Given the description of an element on the screen output the (x, y) to click on. 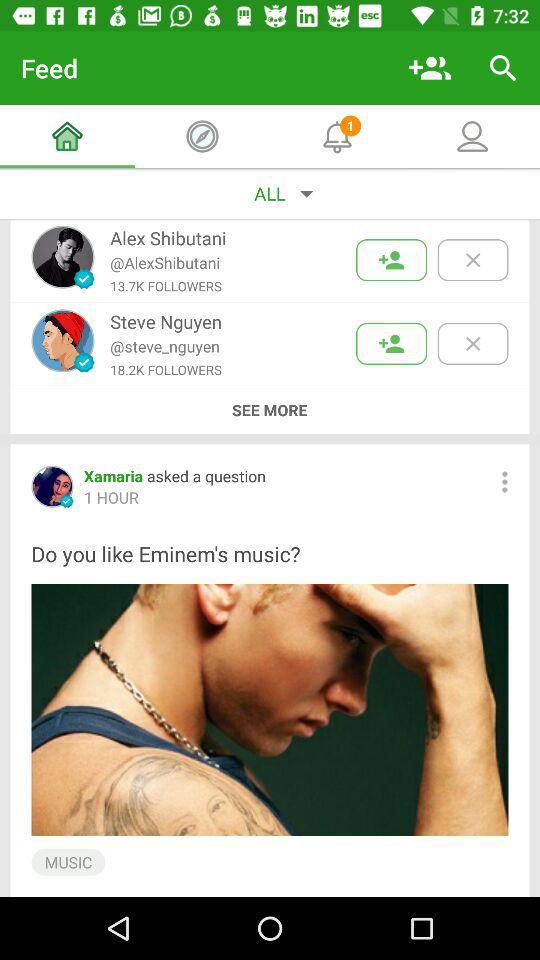
add contact button (391, 260)
